Given the description of an element on the screen output the (x, y) to click on. 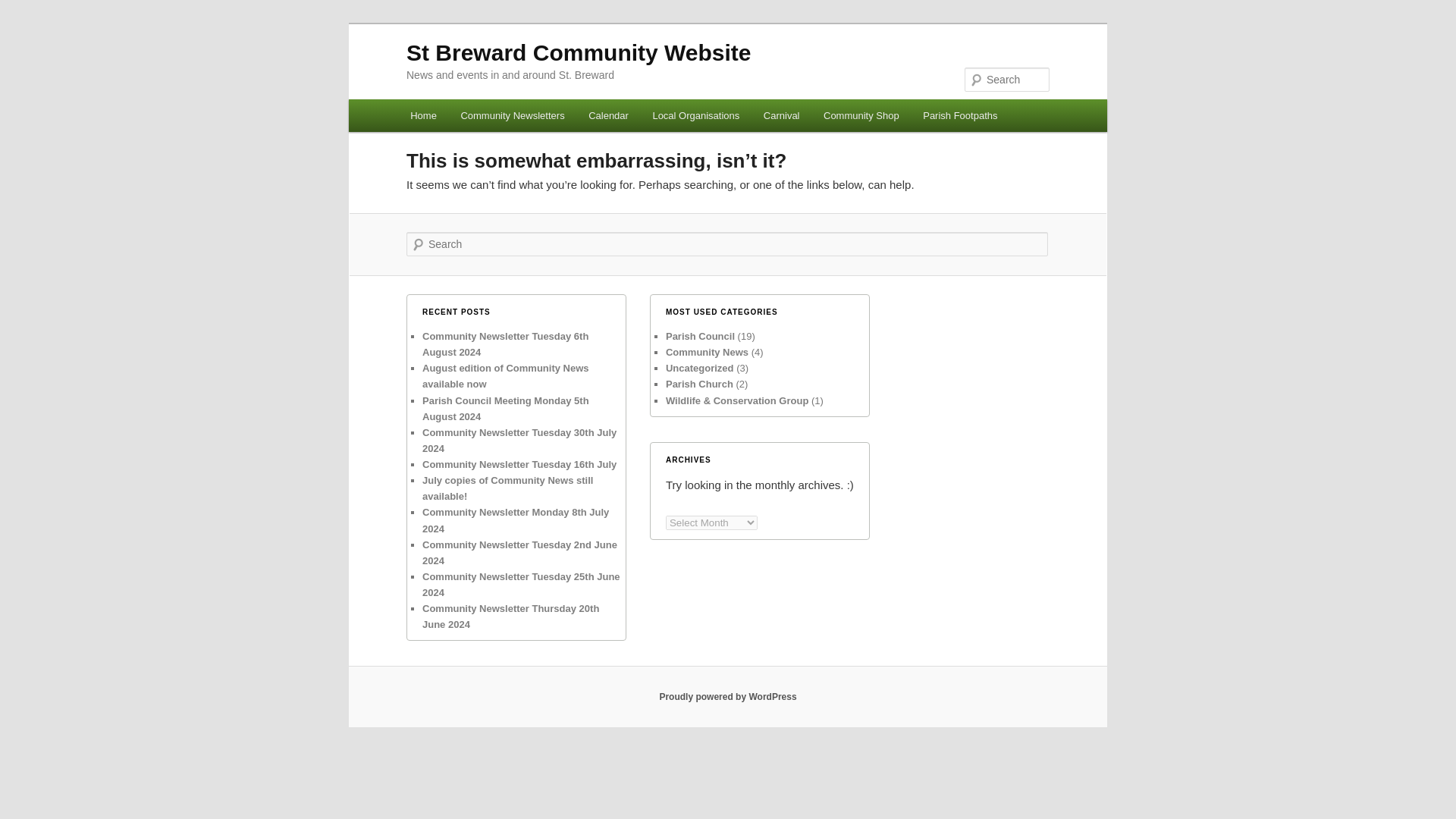
Calendar (608, 115)
Semantic Personal Publishing Platform (727, 696)
Community Newsletter Tuesday 6th August 2024 (505, 343)
Uncategorized (699, 367)
Parish Church (699, 383)
Community Shop (860, 115)
Community Newsletter Monday 8th July 2024 (515, 519)
Community Newsletter Tuesday 25th June 2024 (521, 584)
August edition of Community News available now (505, 375)
